Given the description of an element on the screen output the (x, y) to click on. 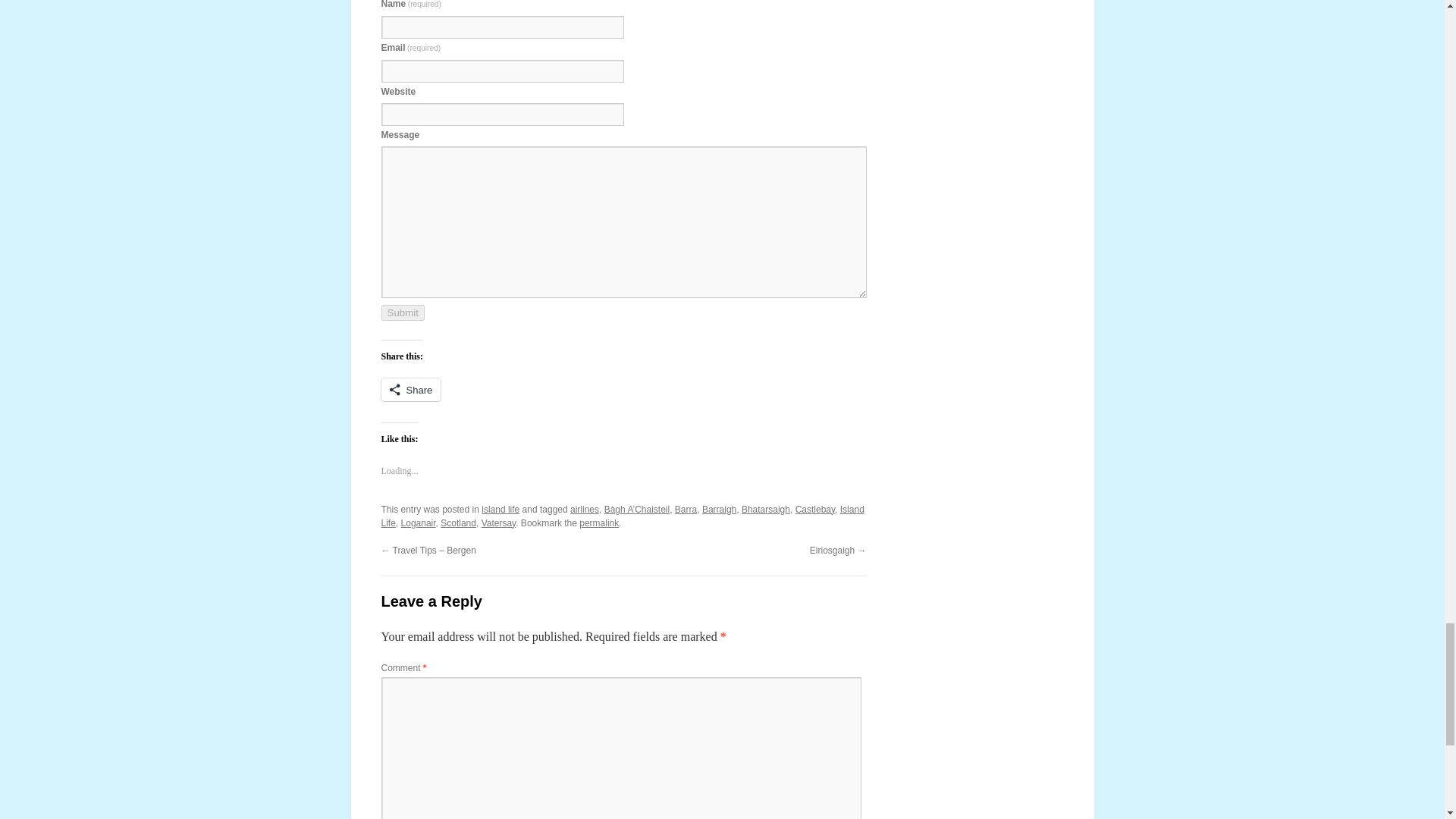
Island Life (621, 516)
Loganair (418, 522)
Permalink to Barraigh (598, 522)
Scotland (458, 522)
Bhatarsaigh (765, 509)
Submit (401, 312)
permalink (598, 522)
Castlebay (814, 509)
island life (500, 509)
Vatersay (498, 522)
